Given the description of an element on the screen output the (x, y) to click on. 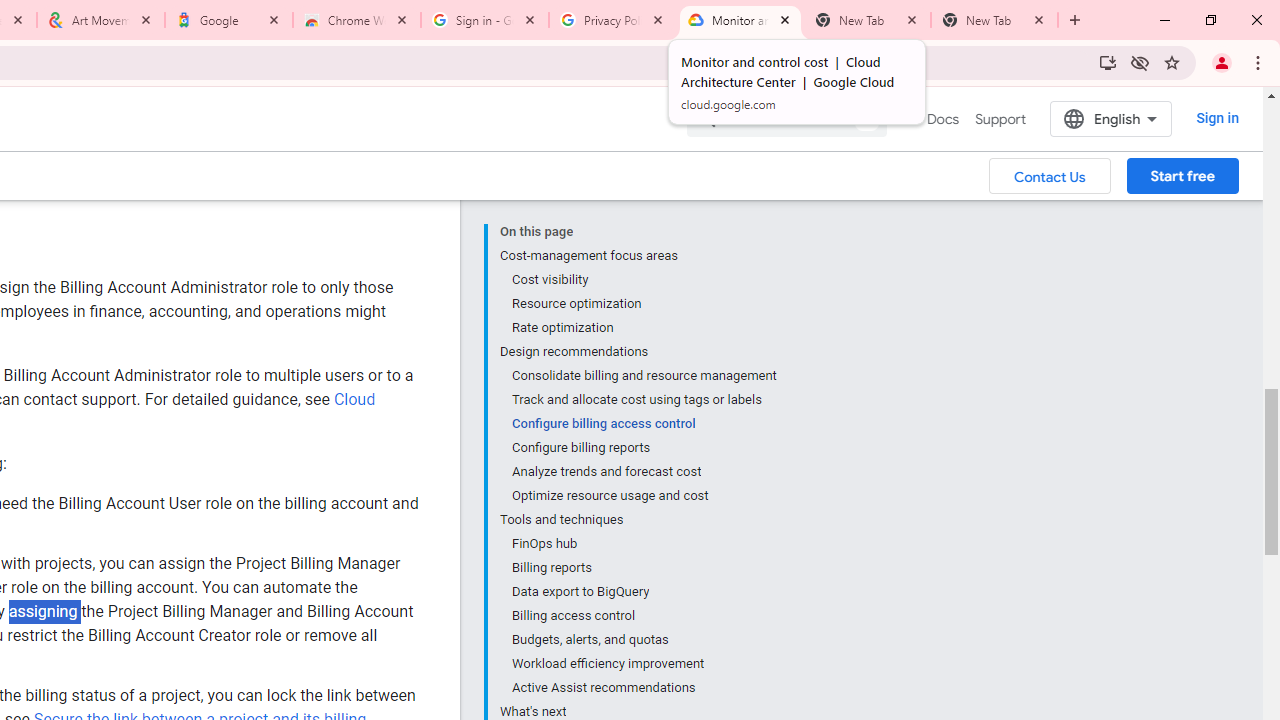
Docs, selected (942, 119)
Tools and techniques (637, 520)
Configure billing access control (643, 423)
Optimize resource usage and cost (643, 495)
Install Google Cloud (1107, 62)
Design recommendations (637, 351)
Workload efficiency improvement (643, 664)
Resource optimization (643, 304)
Google (229, 20)
Data export to BigQuery (643, 592)
